Given the description of an element on the screen output the (x, y) to click on. 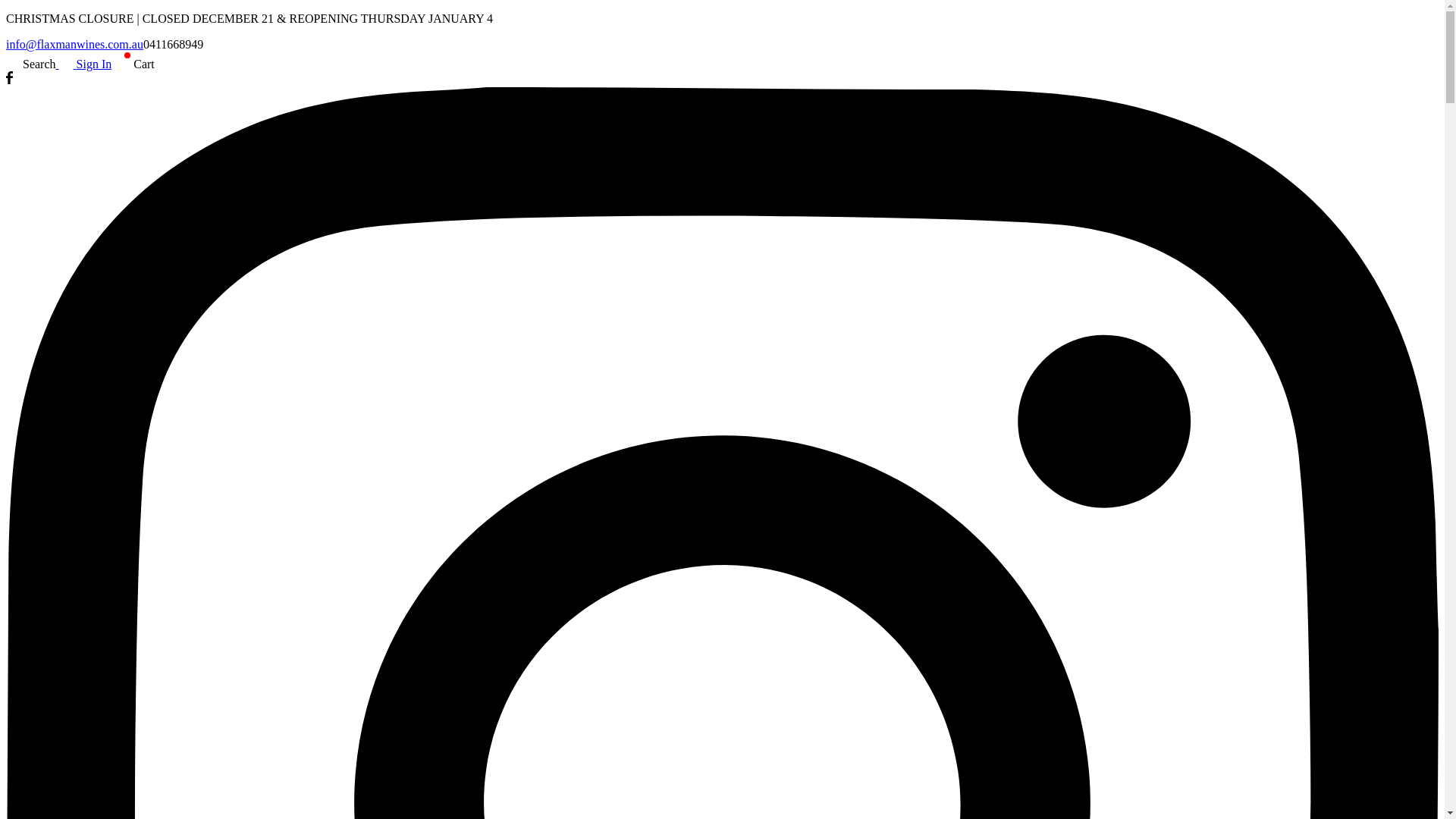
A link to this website's Facebook. Element type: hover (9, 79)
Sign In Element type: text (84, 63)
info@flaxmanwines.com.au Element type: text (74, 43)
Cart Element type: text (132, 63)
Search Element type: text (31, 63)
